Given the description of an element on the screen output the (x, y) to click on. 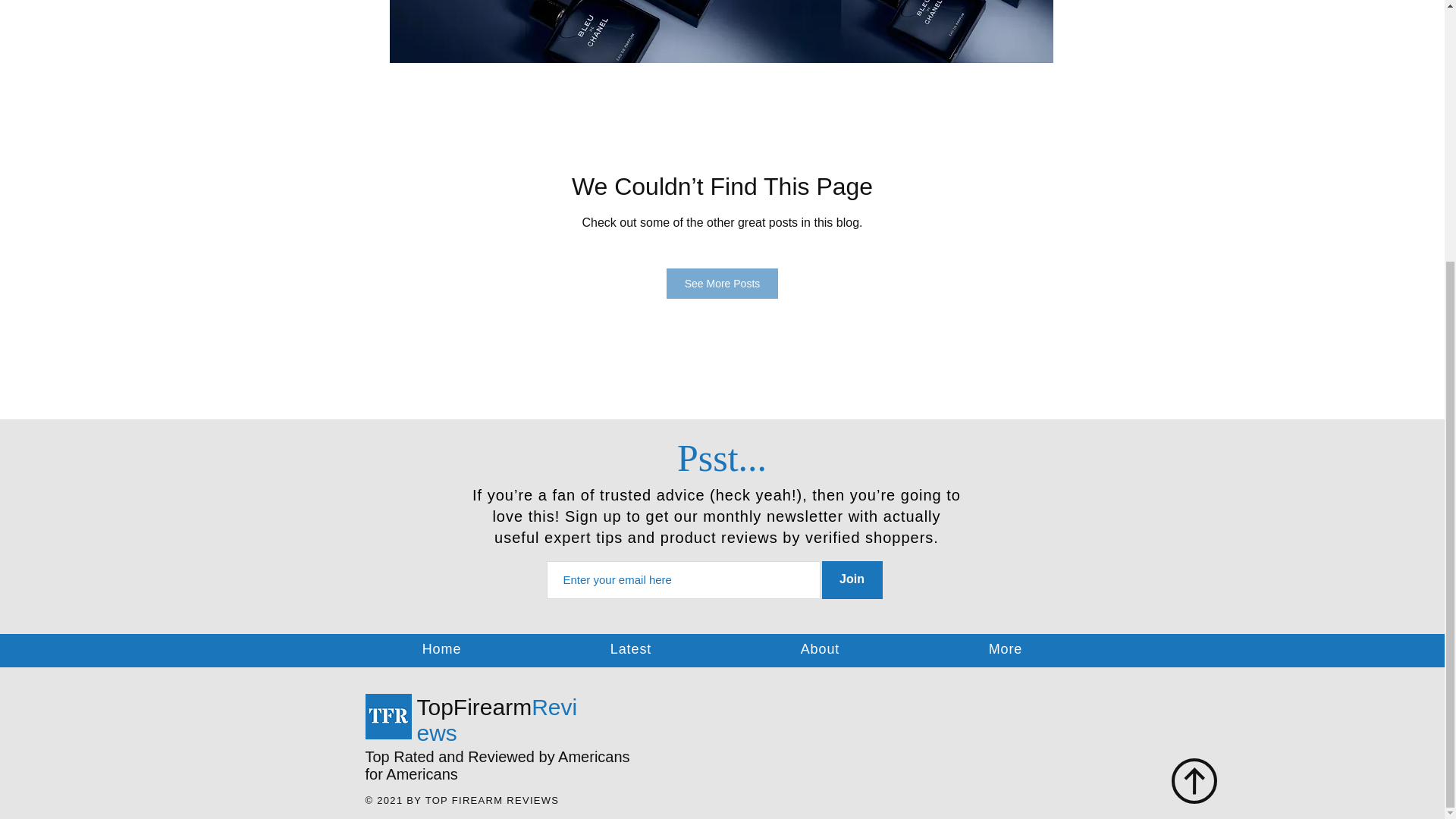
See More Posts (722, 283)
Join (852, 579)
Latest (630, 649)
About (820, 649)
Home (441, 649)
